Given the description of an element on the screen output the (x, y) to click on. 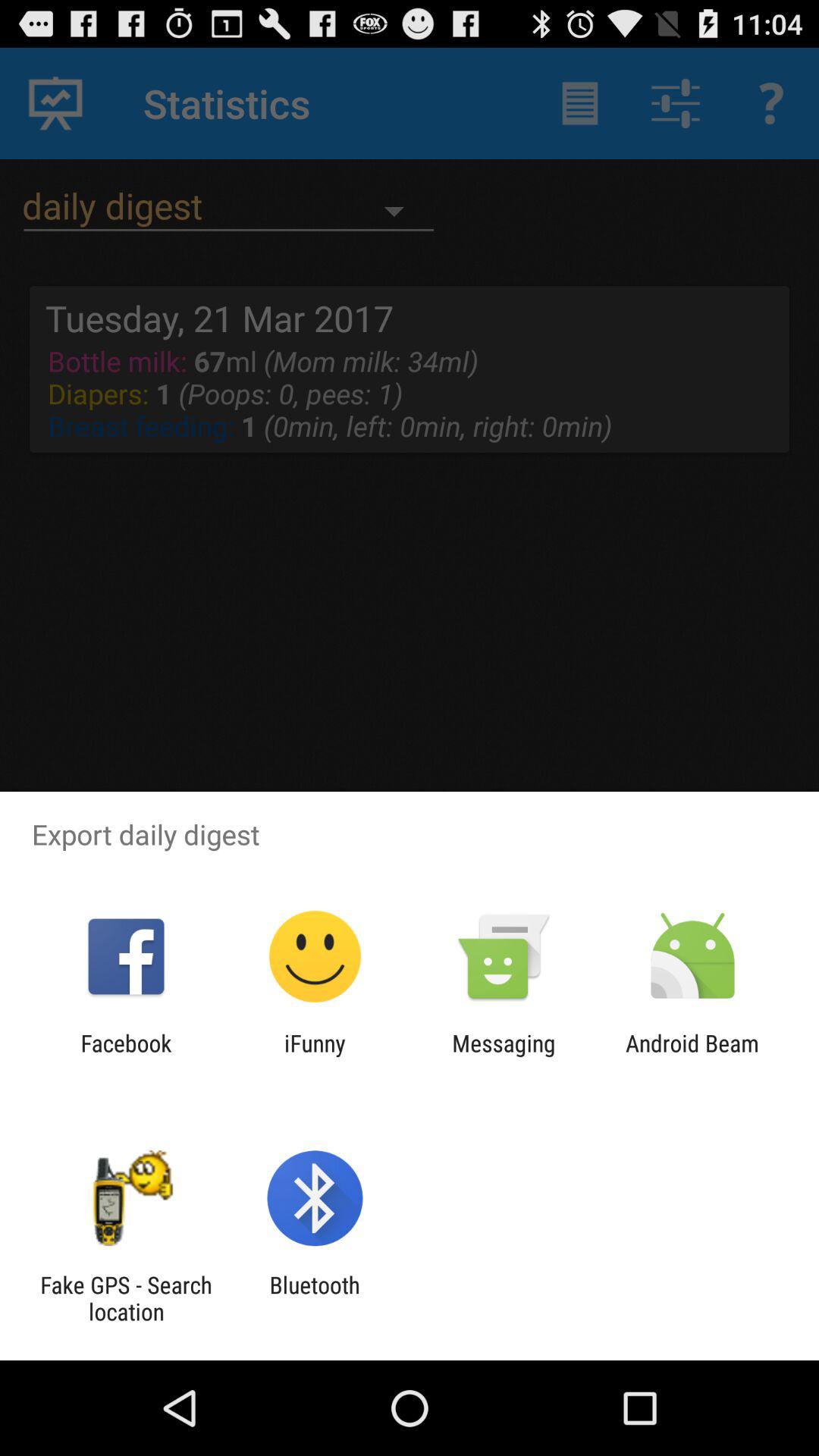
click the ifunny icon (314, 1056)
